Given the description of an element on the screen output the (x, y) to click on. 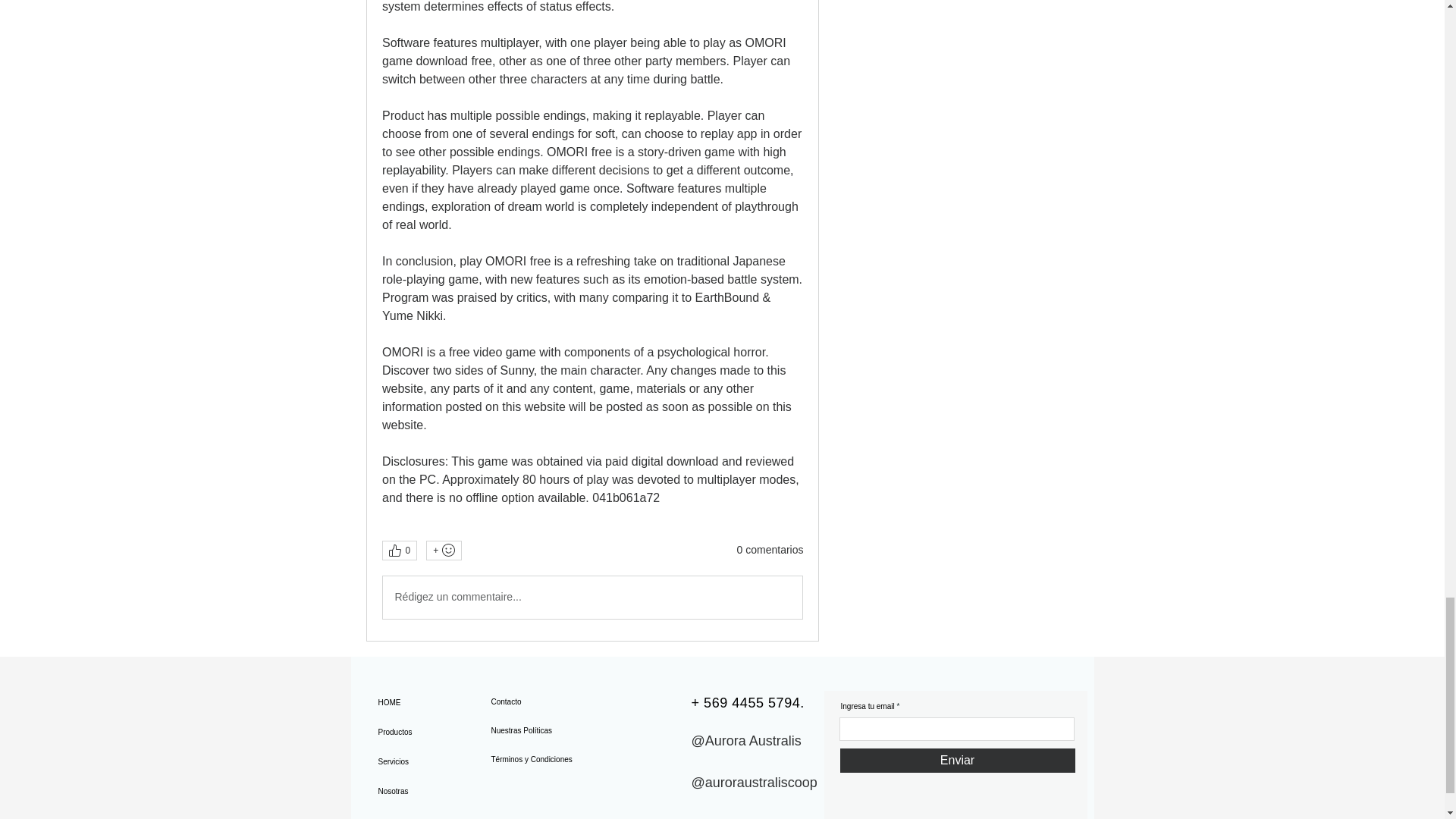
Servicios (430, 761)
Nosotras (430, 790)
0 comentarios (769, 549)
Productos (430, 731)
Enviar (957, 760)
HOME (430, 702)
Contacto (545, 701)
